Given the description of an element on the screen output the (x, y) to click on. 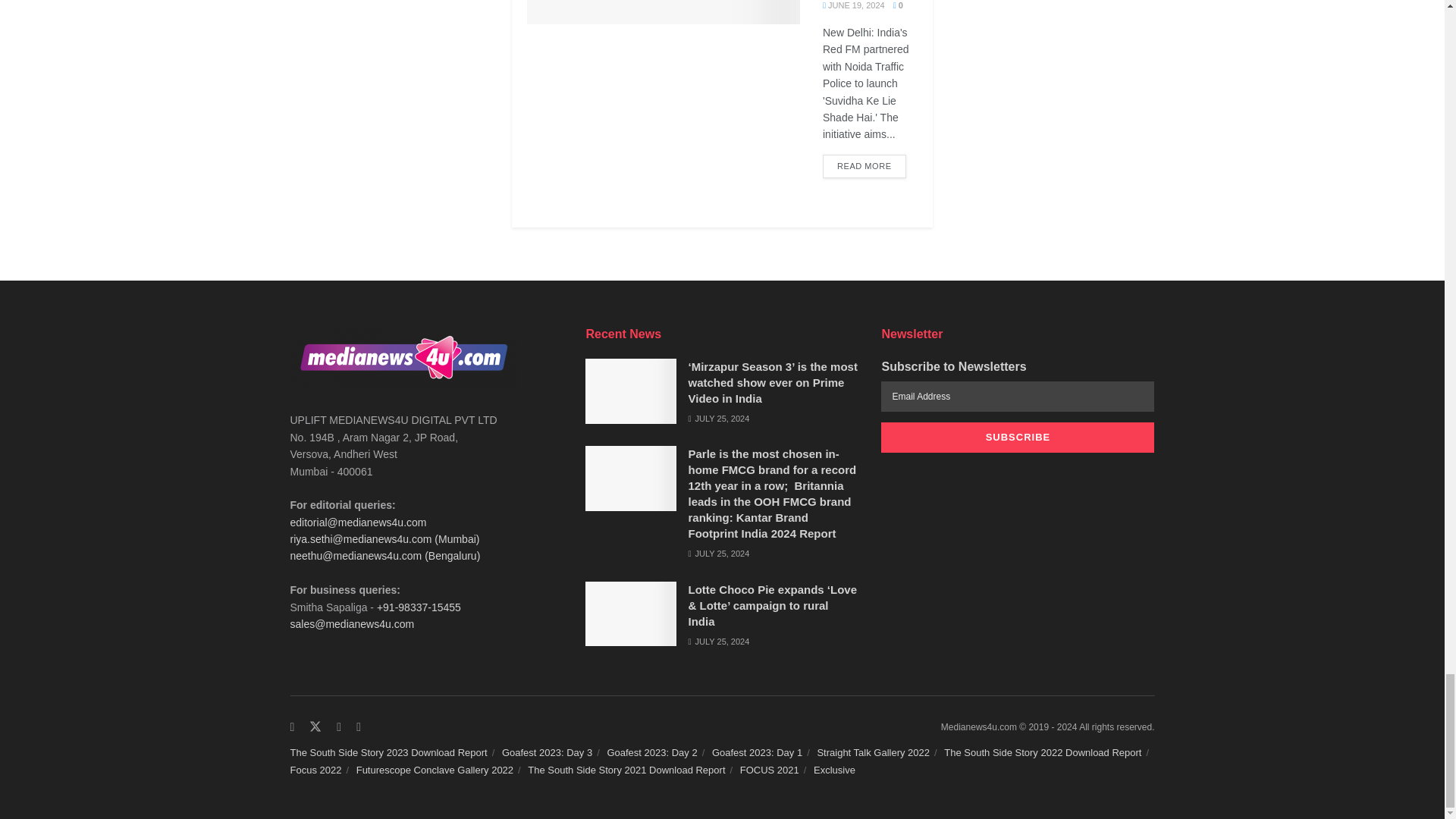
Subscribe (1017, 437)
